Given the description of an element on the screen output the (x, y) to click on. 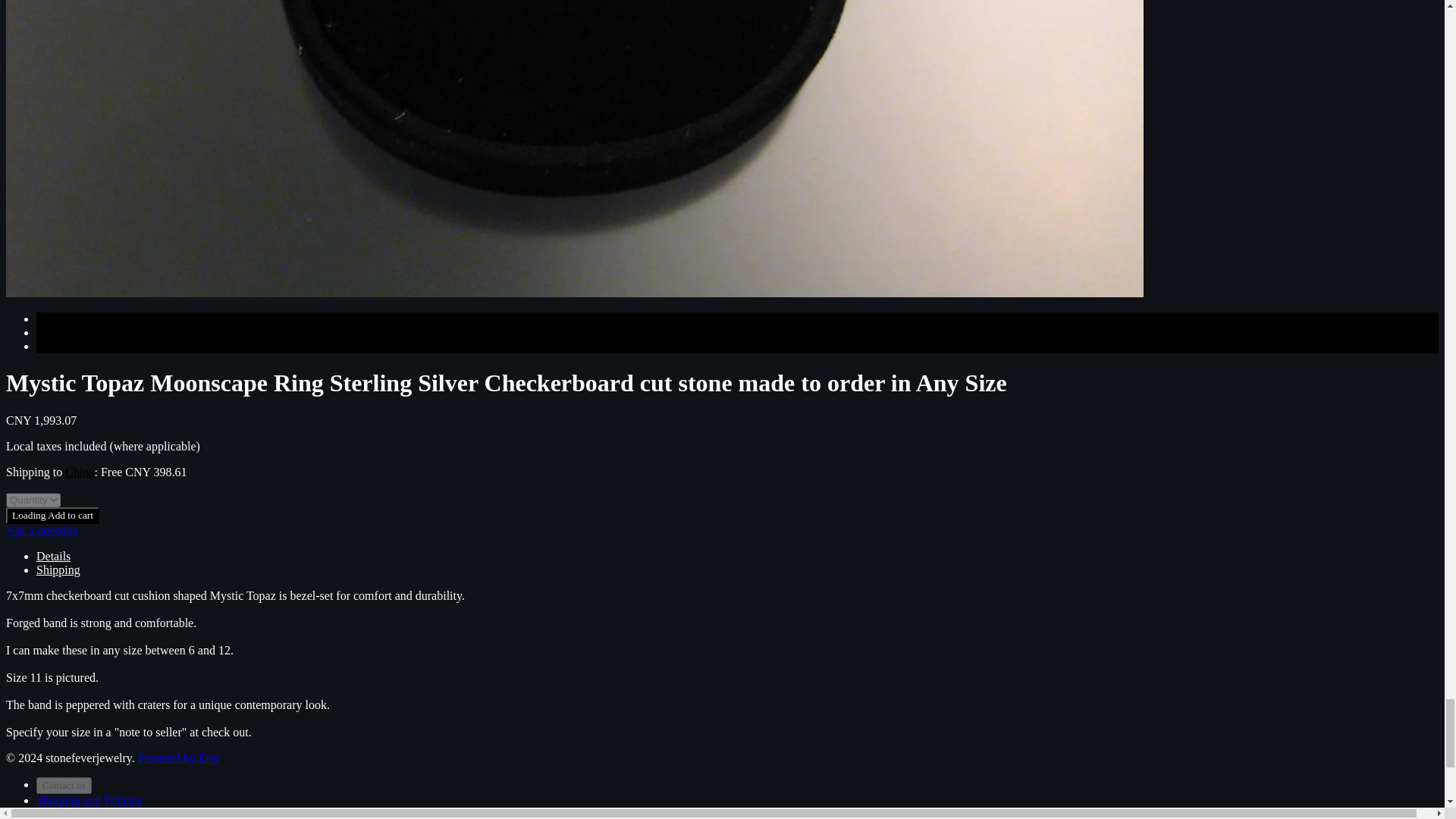
Powered by Etsy (178, 757)
China (79, 472)
Ask a question (41, 530)
Details (52, 555)
Contact us (63, 785)
Shipping and Policies (89, 799)
Loading Add to cart (52, 515)
Shipping (58, 569)
